Given the description of an element on the screen output the (x, y) to click on. 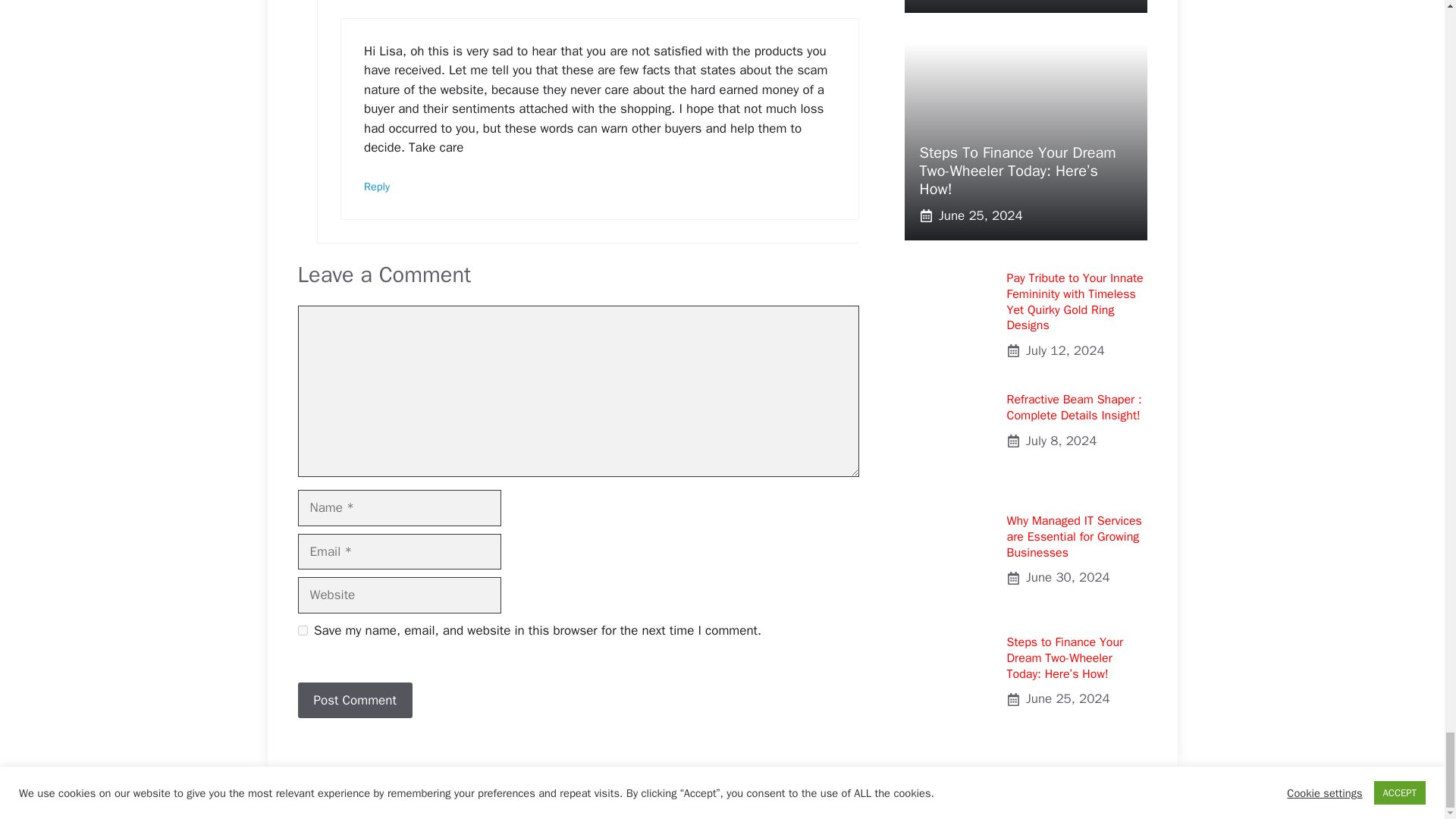
yes (302, 630)
Post Comment (354, 700)
